Given the description of an element on the screen output the (x, y) to click on. 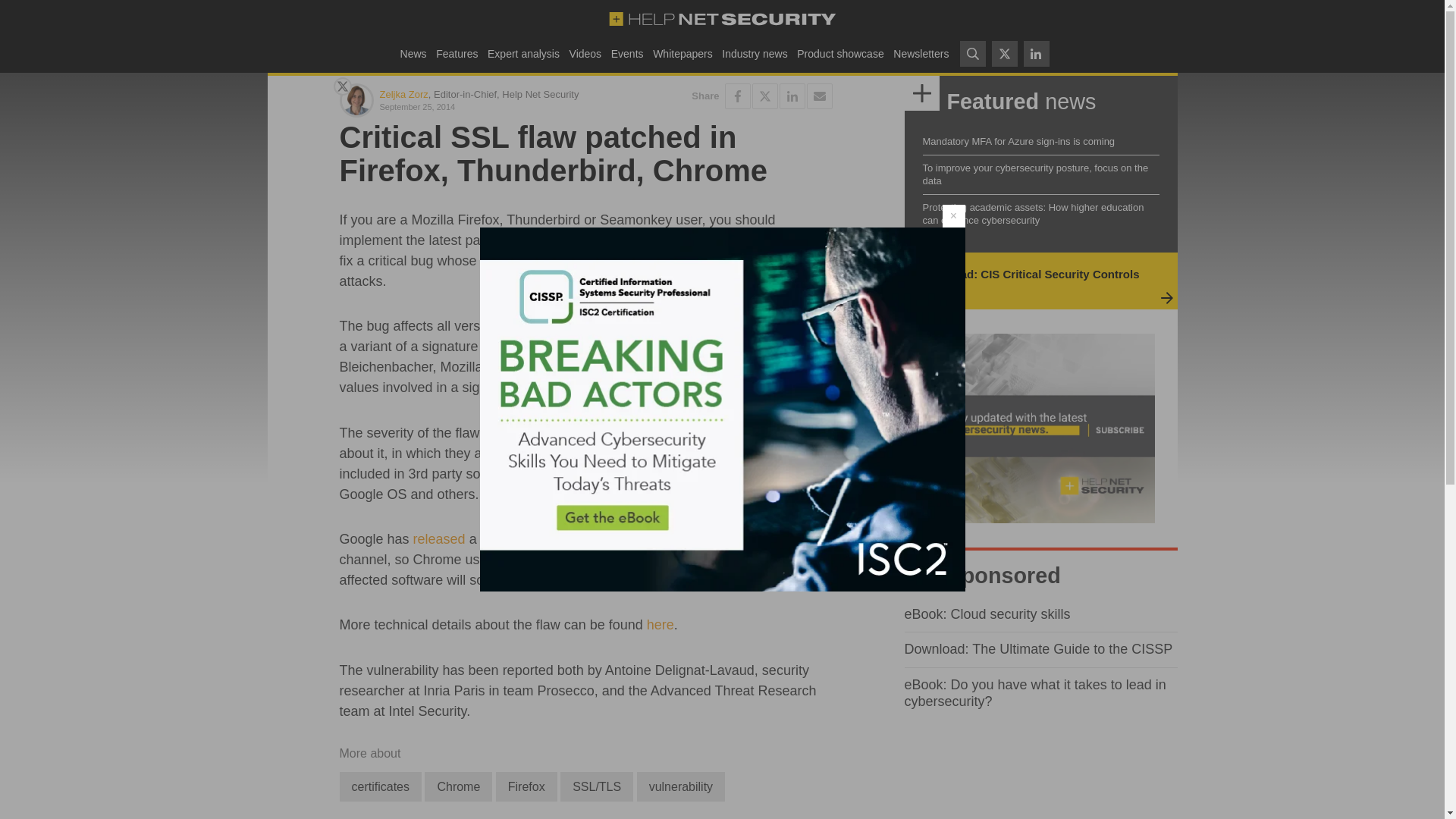
Chrome (458, 786)
Features (456, 53)
Chrome (458, 786)
Firefox (526, 786)
Mandatory MFA for Azure sign-ins is coming (1018, 141)
here (660, 624)
September 25, 2014 (478, 106)
vulnerability (681, 786)
Download: CIS Critical Security Controls v8.1 (1028, 280)
